Given the description of an element on the screen output the (x, y) to click on. 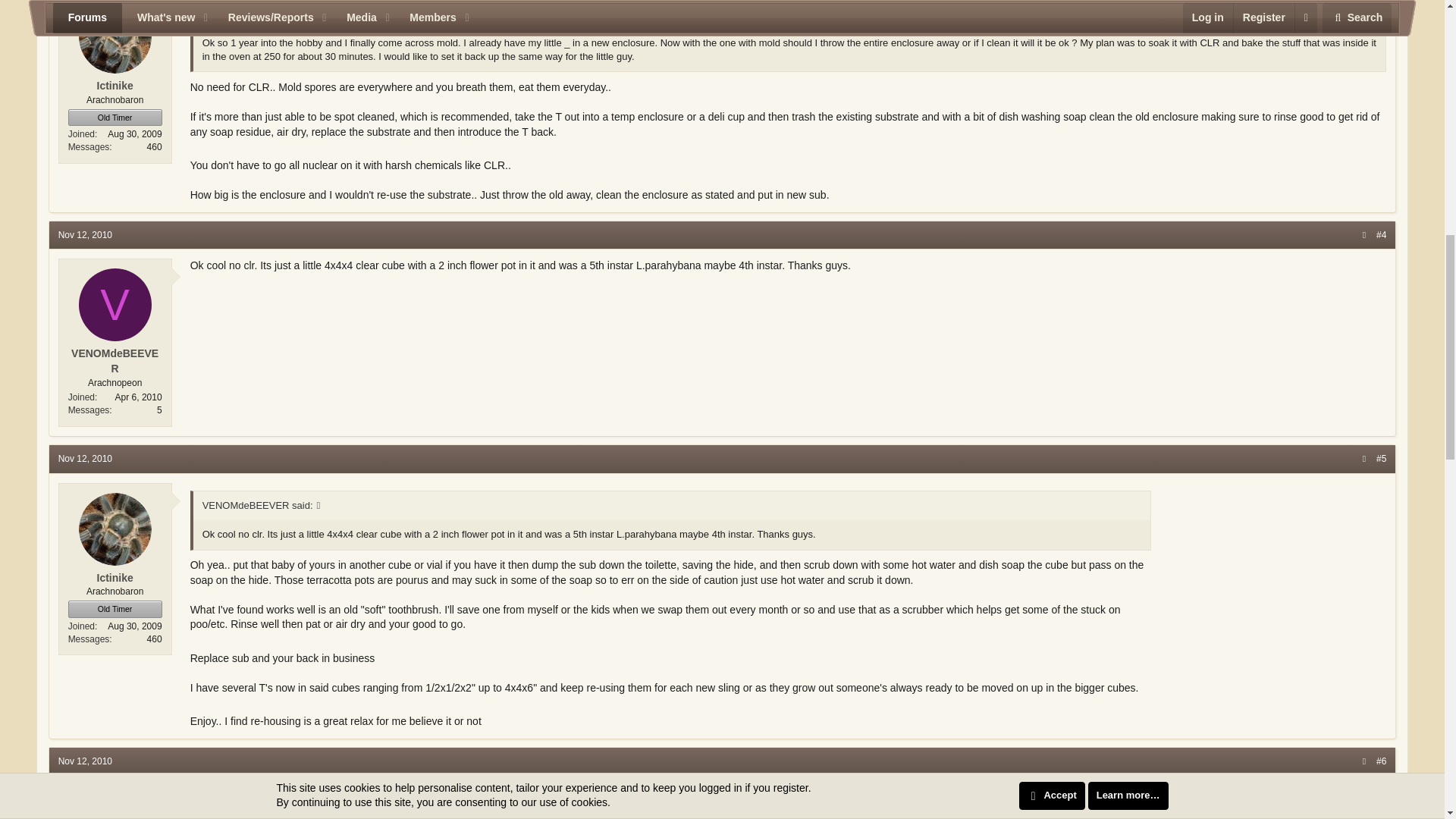
Nov 12, 2010 at 11:36 PM (85, 760)
Big Grin    :D (492, 718)
Nov 12, 2010 at 11:34 PM (85, 458)
Nov 12, 2010 at 11:06 PM (85, 235)
Big Grin    :D (859, 792)
